Given the description of an element on the screen output the (x, y) to click on. 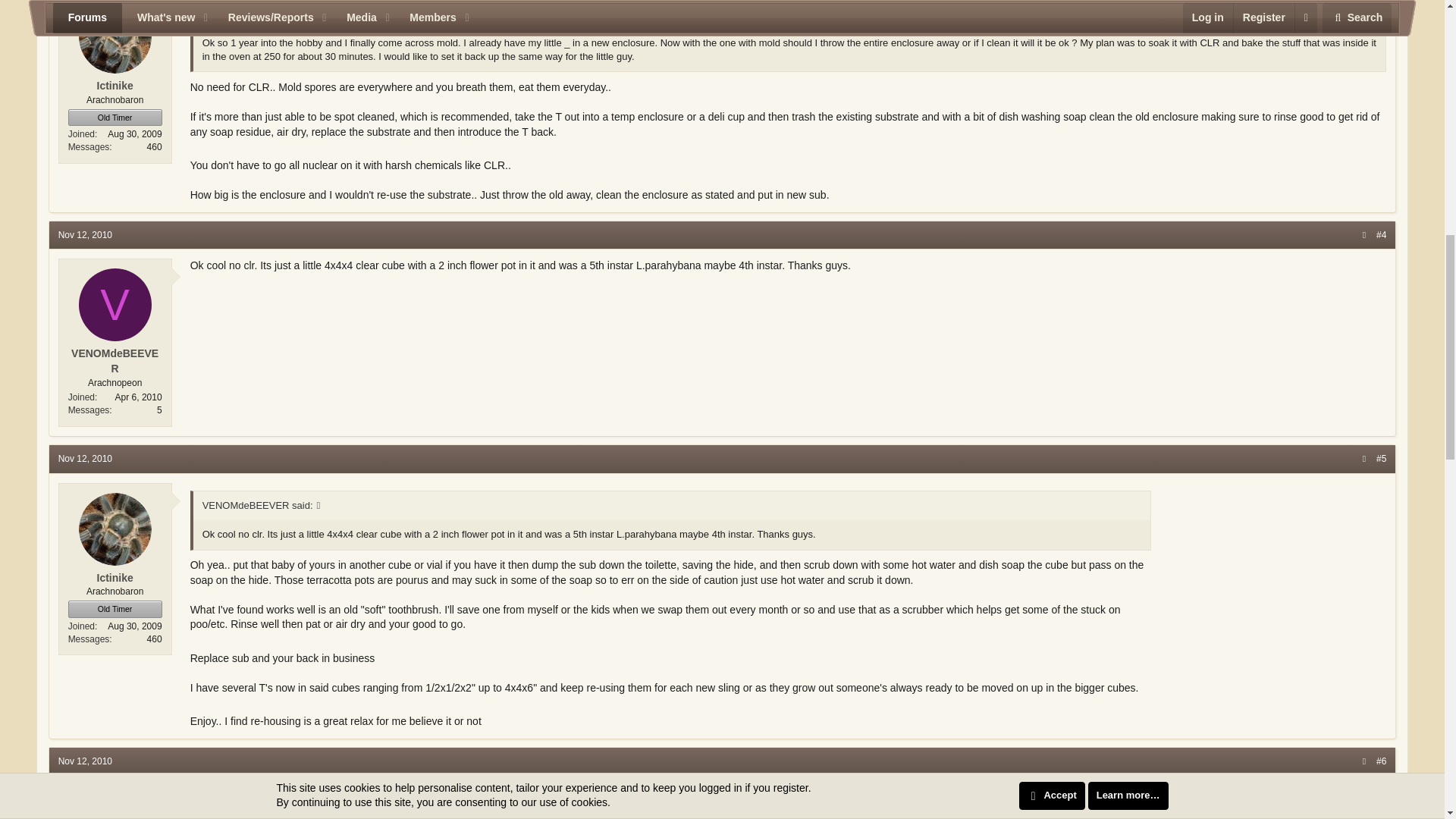
Nov 12, 2010 at 11:36 PM (85, 760)
Big Grin    :D (492, 718)
Nov 12, 2010 at 11:34 PM (85, 458)
Nov 12, 2010 at 11:06 PM (85, 235)
Big Grin    :D (859, 792)
